Given the description of an element on the screen output the (x, y) to click on. 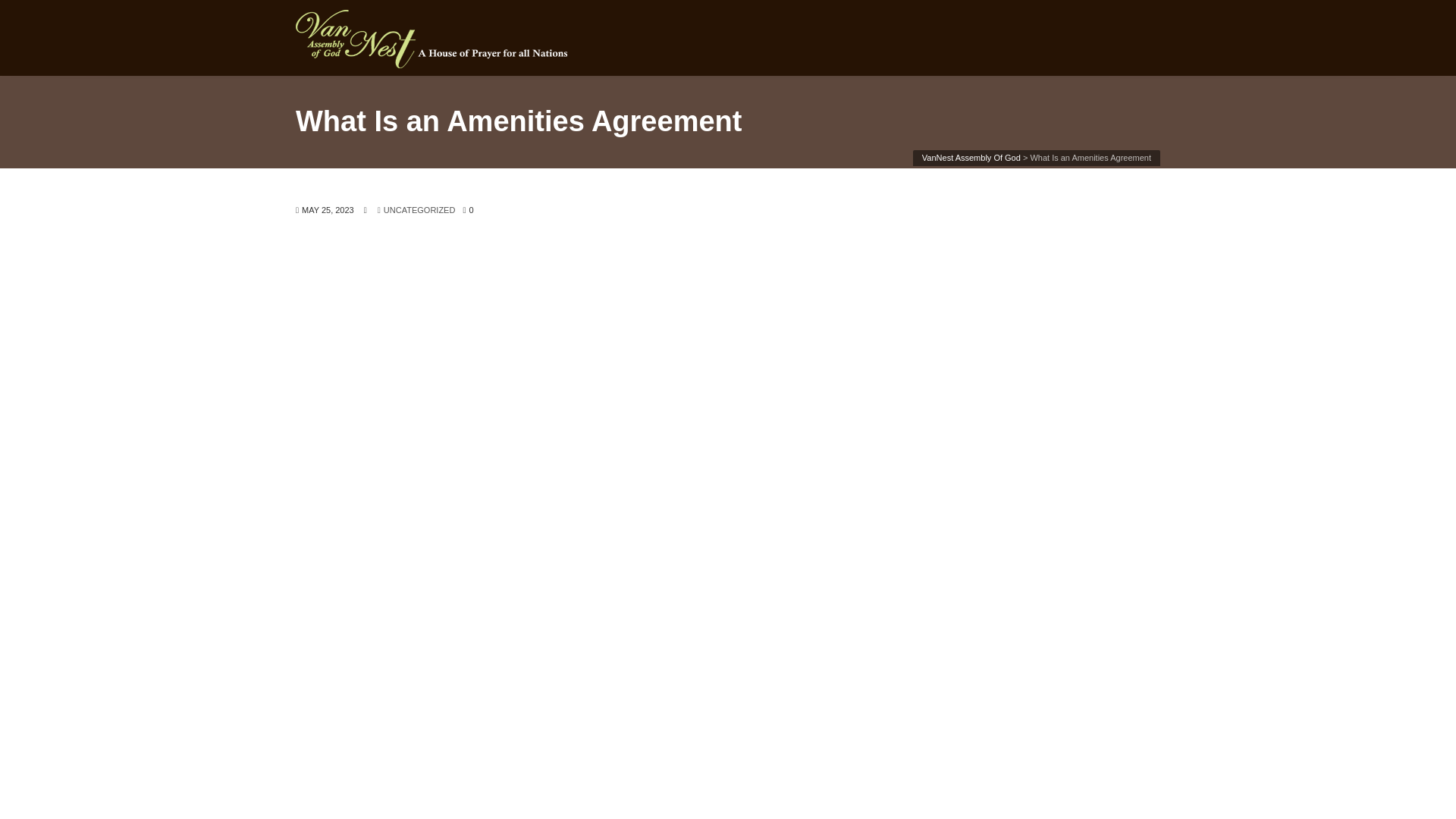
VanNest Assembly Of God (970, 157)
Go to VanNest Assembly Of God. (970, 157)
MAY 25, 2023 (324, 210)
